Given the description of an element on the screen output the (x, y) to click on. 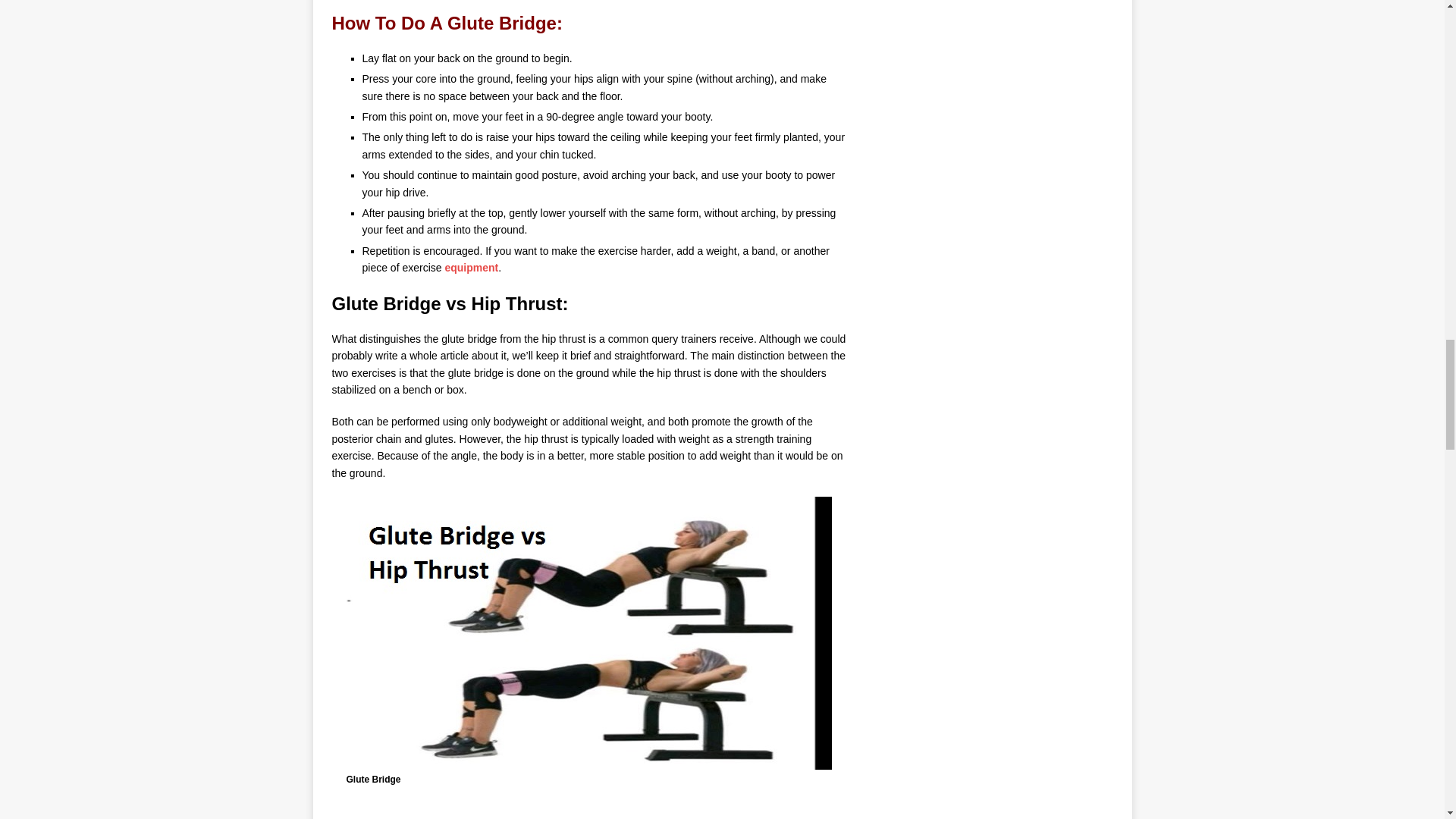
equipment (470, 267)
